Given the description of an element on the screen output the (x, y) to click on. 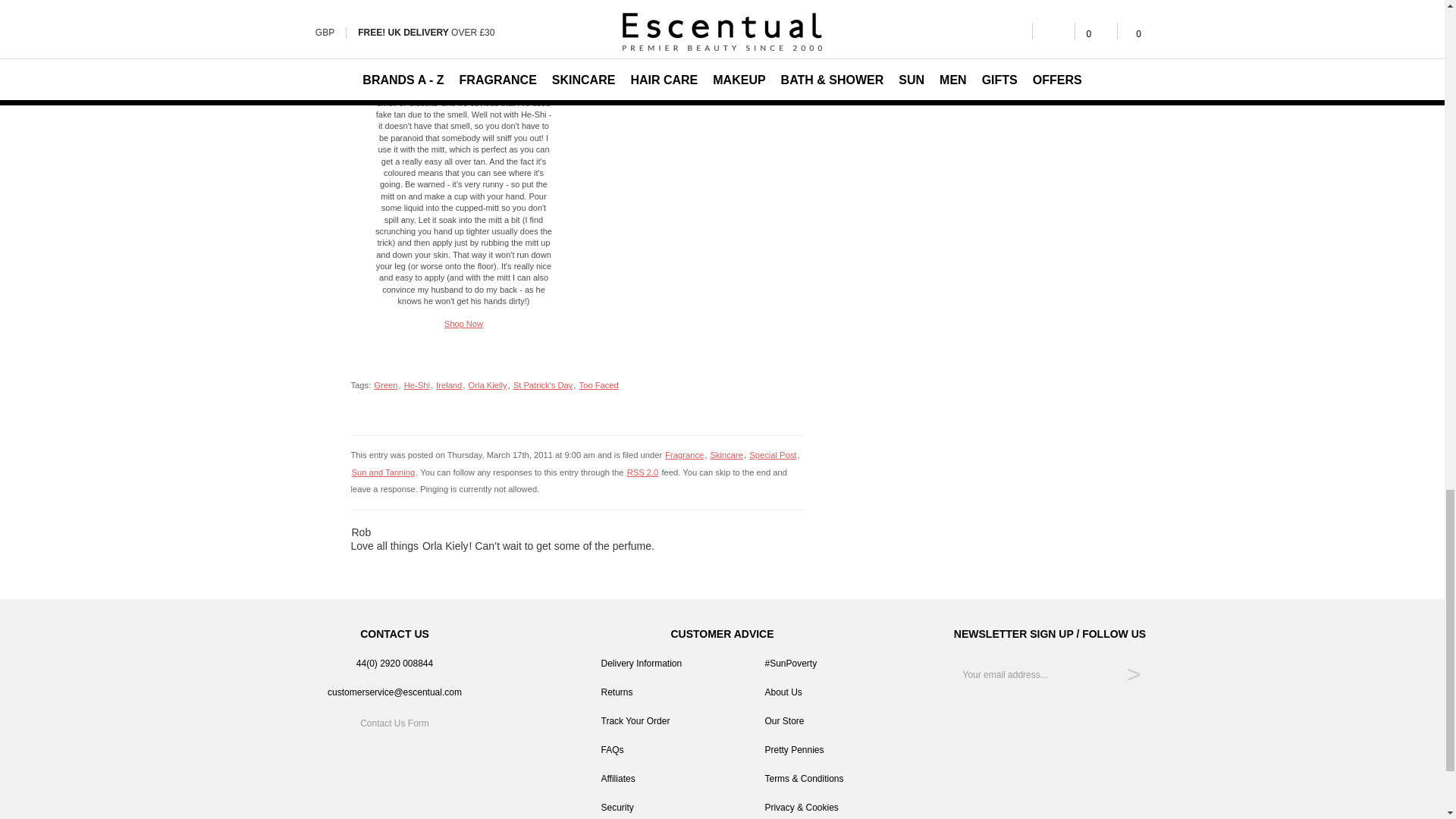
Sign Up (1133, 674)
Twitter (1035, 719)
